Given the description of an element on the screen output the (x, y) to click on. 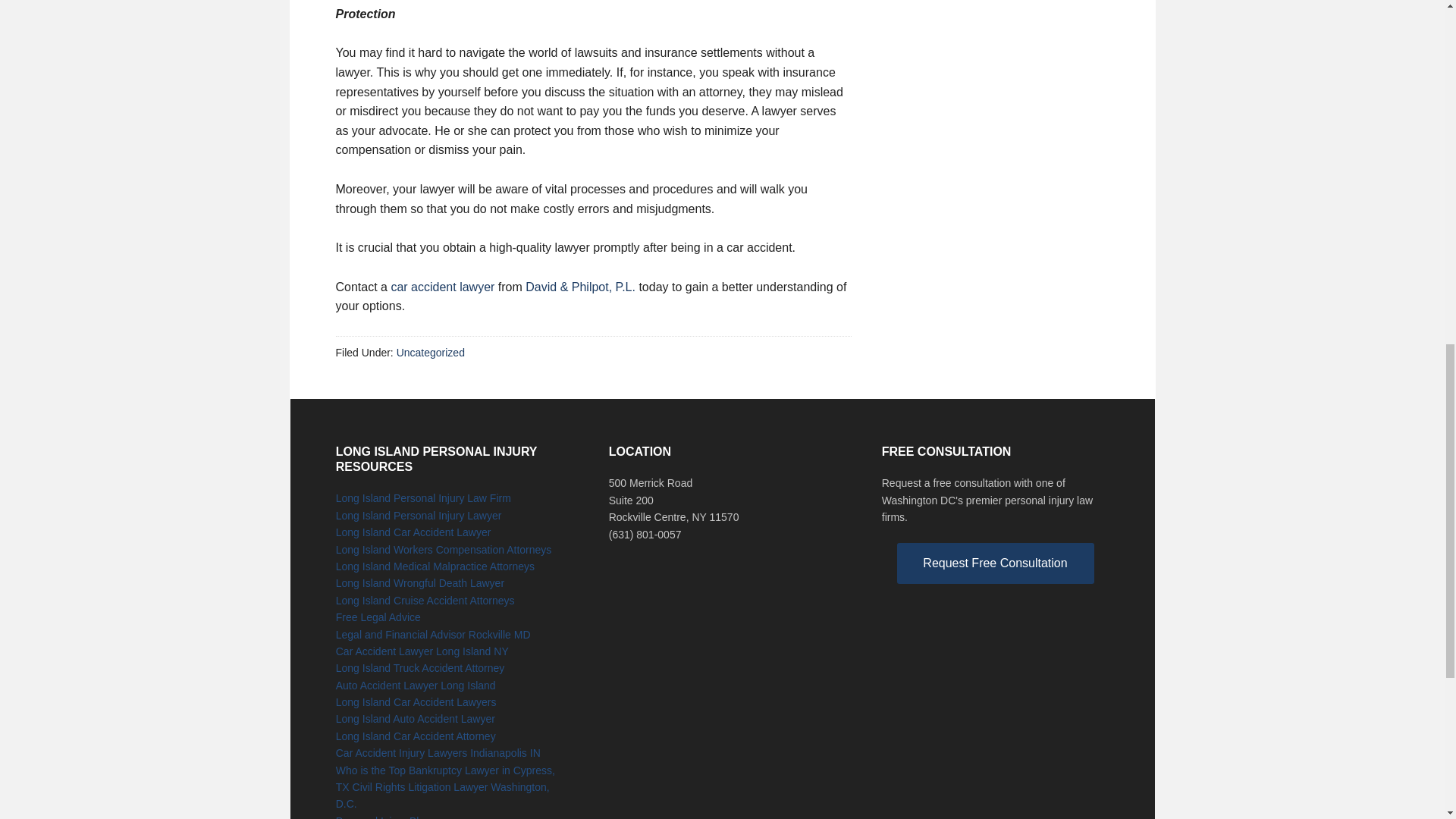
Long Island Workers Compensation Attorneys (443, 549)
Legal and Financial Advisor Rockville MD (433, 634)
Long Island Wrongful Death Lawyer (419, 582)
Long Island Truck Accident Attorney (420, 667)
car accident lawyer (442, 286)
Uncategorized (430, 352)
Long Island Personal Injury Lawyer (419, 515)
Long Island Medical Malpractice Attorneys (435, 566)
Long Island Car Accident Lawyer (414, 532)
Long Island Cruise Accident Attorneys (425, 600)
